Given the description of an element on the screen output the (x, y) to click on. 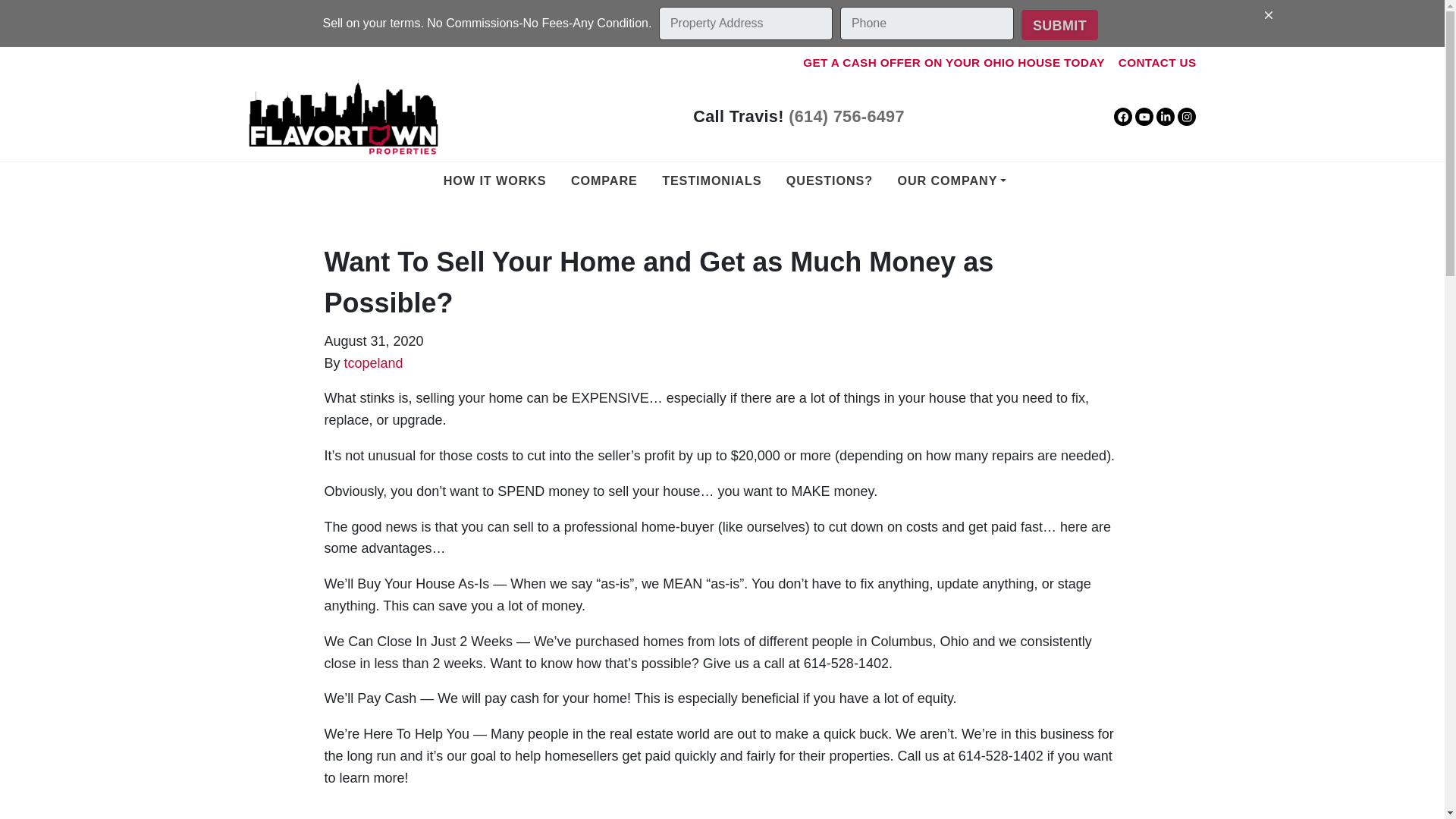
Compare (604, 181)
How It Works (494, 181)
Instagram (1186, 116)
QUESTIONS? (828, 181)
Questions? (828, 181)
Submit (1059, 24)
YouTube (1144, 116)
TESTIMONIALS (711, 181)
CONTACT US (1158, 62)
Our Company (951, 181)
